Given the description of an element on the screen output the (x, y) to click on. 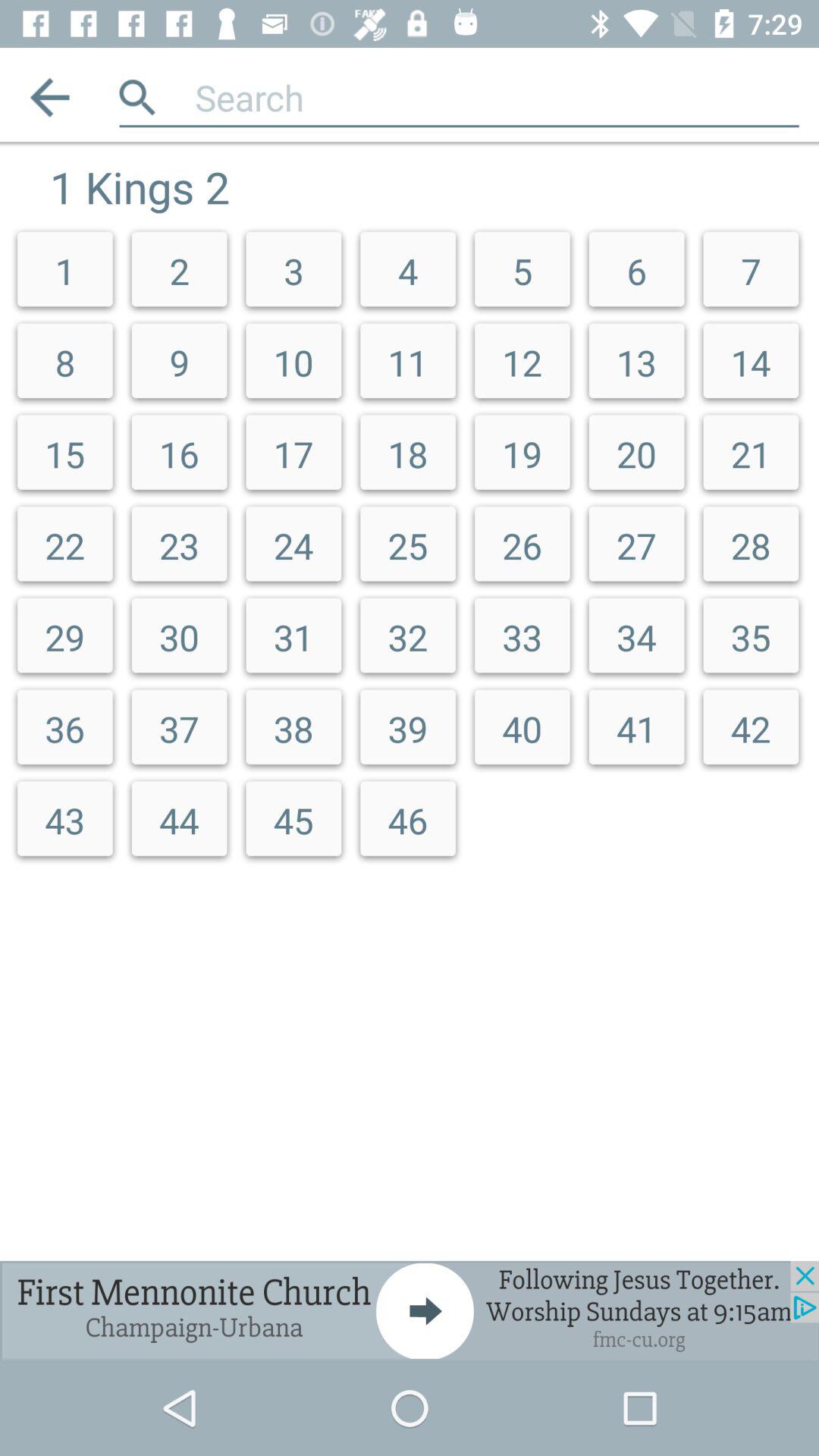
advertisement (409, 1310)
